Given the description of an element on the screen output the (x, y) to click on. 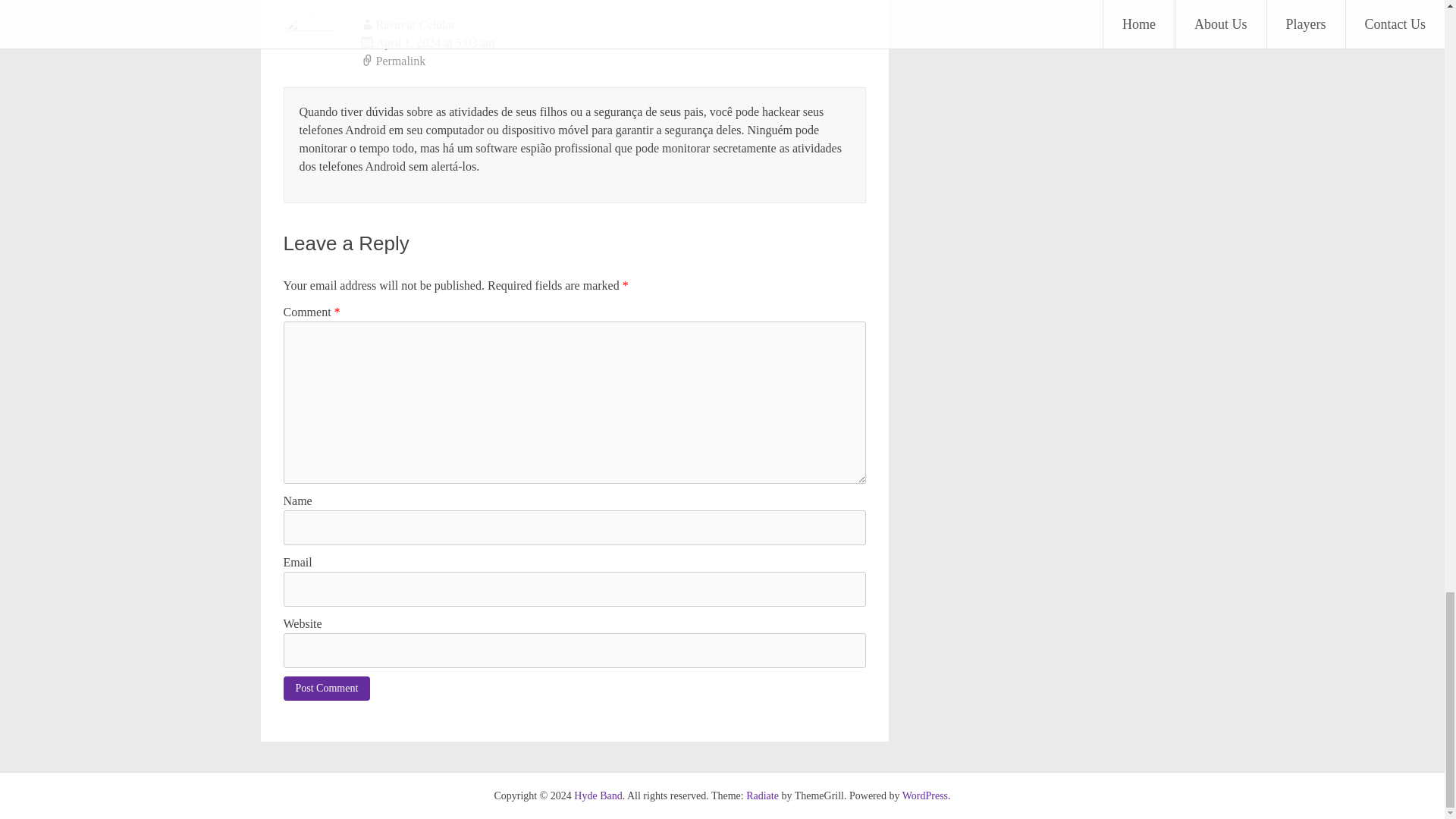
WordPress (924, 795)
Post Comment (327, 688)
Hyde Band (597, 795)
Radiate (761, 795)
